Given the description of an element on the screen output the (x, y) to click on. 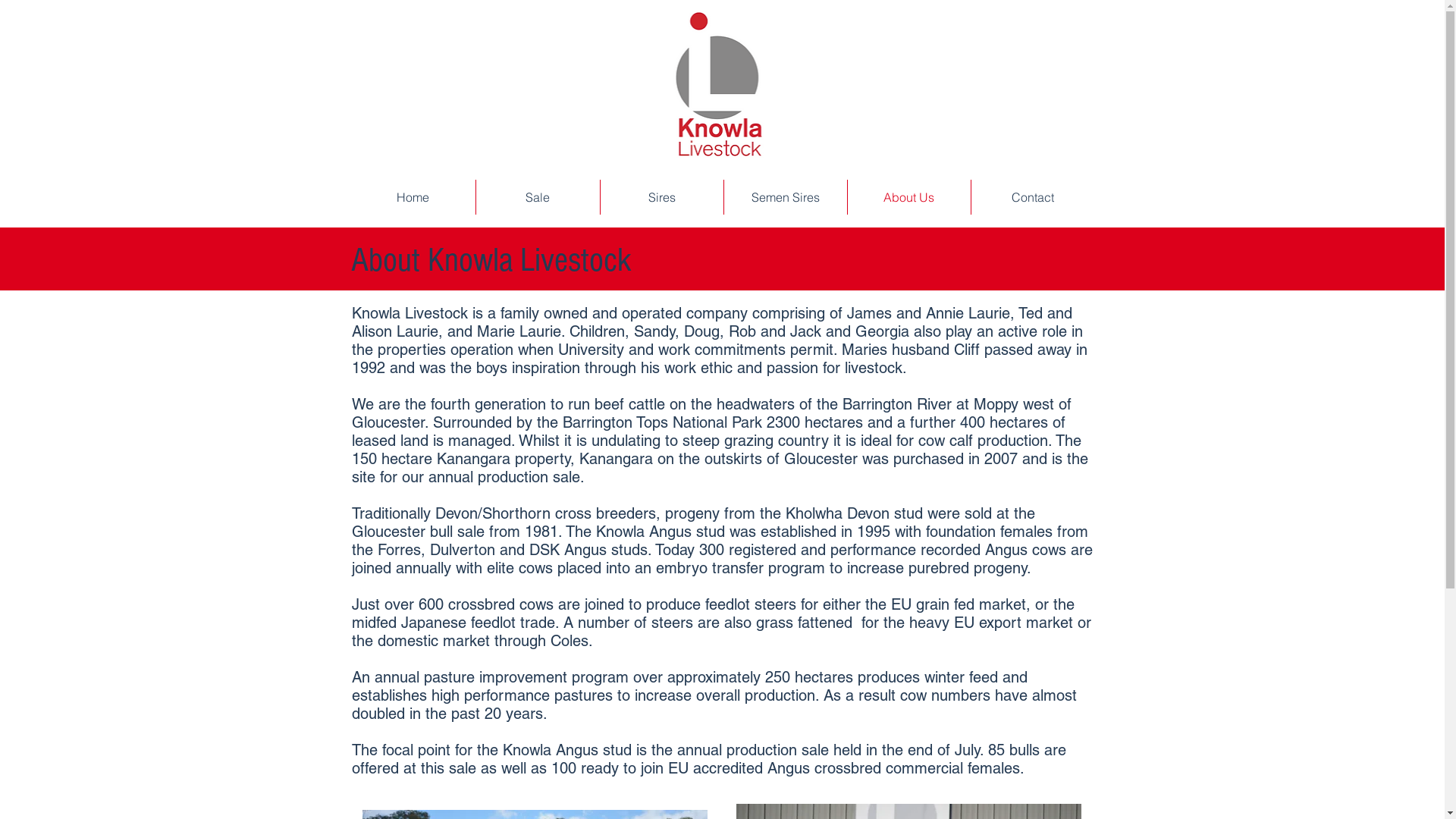
Semen Sires Element type: text (784, 196)
About Us Element type: text (908, 196)
Home Element type: text (412, 196)
Sires Element type: text (661, 196)
Contact Element type: text (1031, 196)
